Given the description of an element on the screen output the (x, y) to click on. 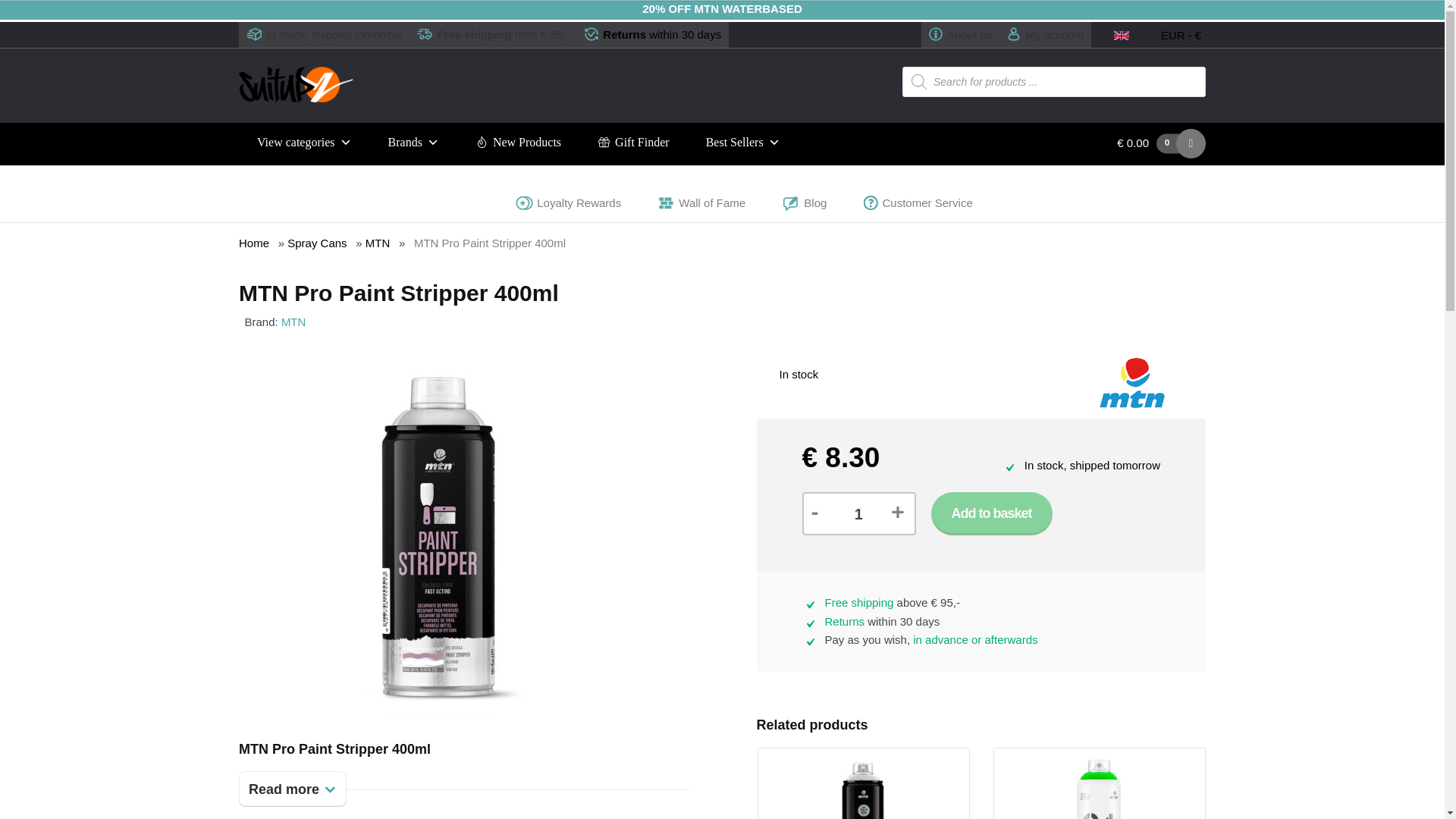
In stock, shipped tomorrow (323, 34)
My account (1044, 34)
About us (959, 34)
1 (854, 513)
View categories (303, 142)
View your shopping basket (1100, 142)
Returns within 30 days (652, 34)
